Given the description of an element on the screen output the (x, y) to click on. 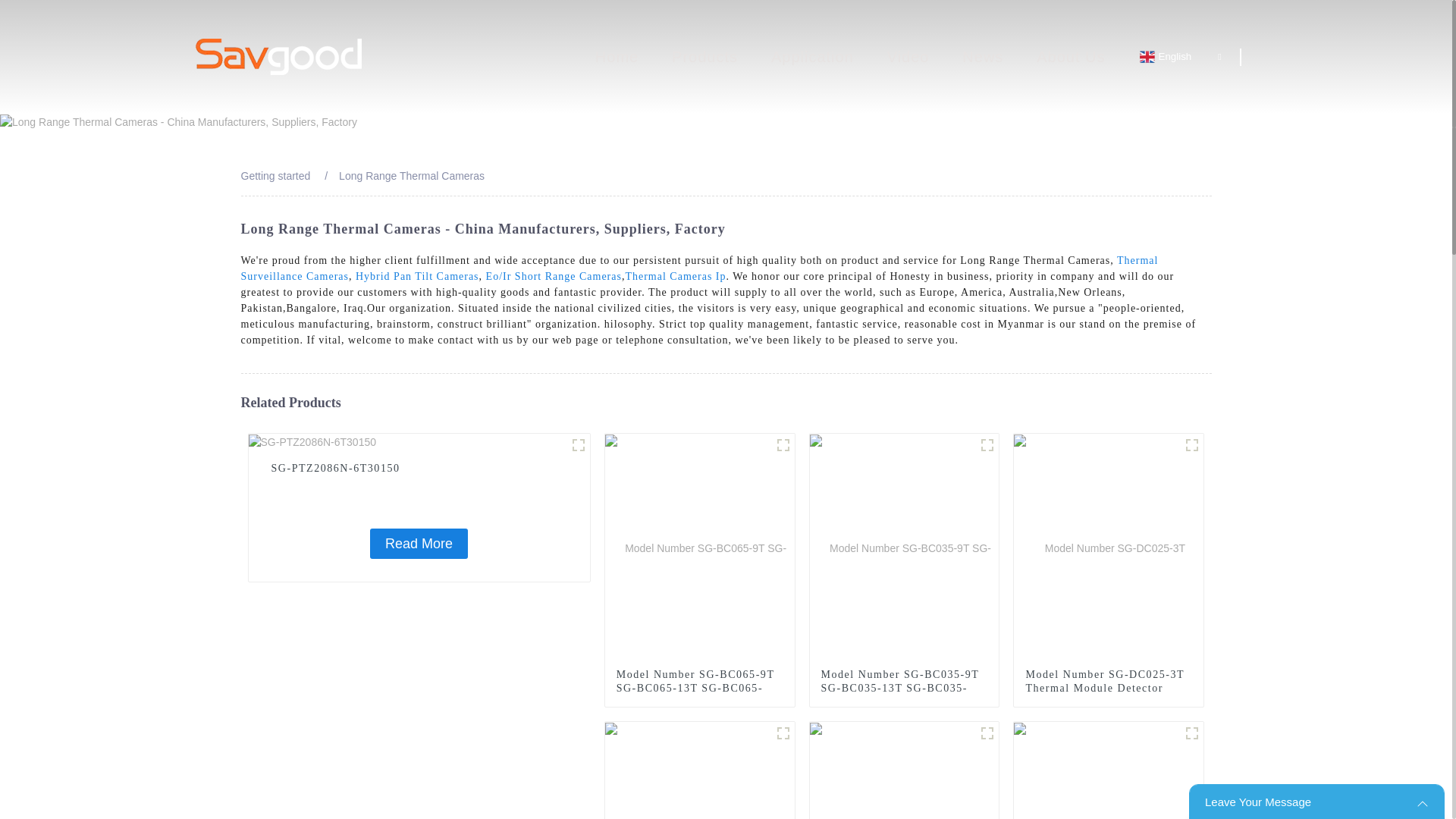
English (1178, 56)
Application (812, 56)
Home (617, 56)
Video (908, 56)
Products (704, 56)
About Us (1070, 56)
News (982, 56)
